Given the description of an element on the screen output the (x, y) to click on. 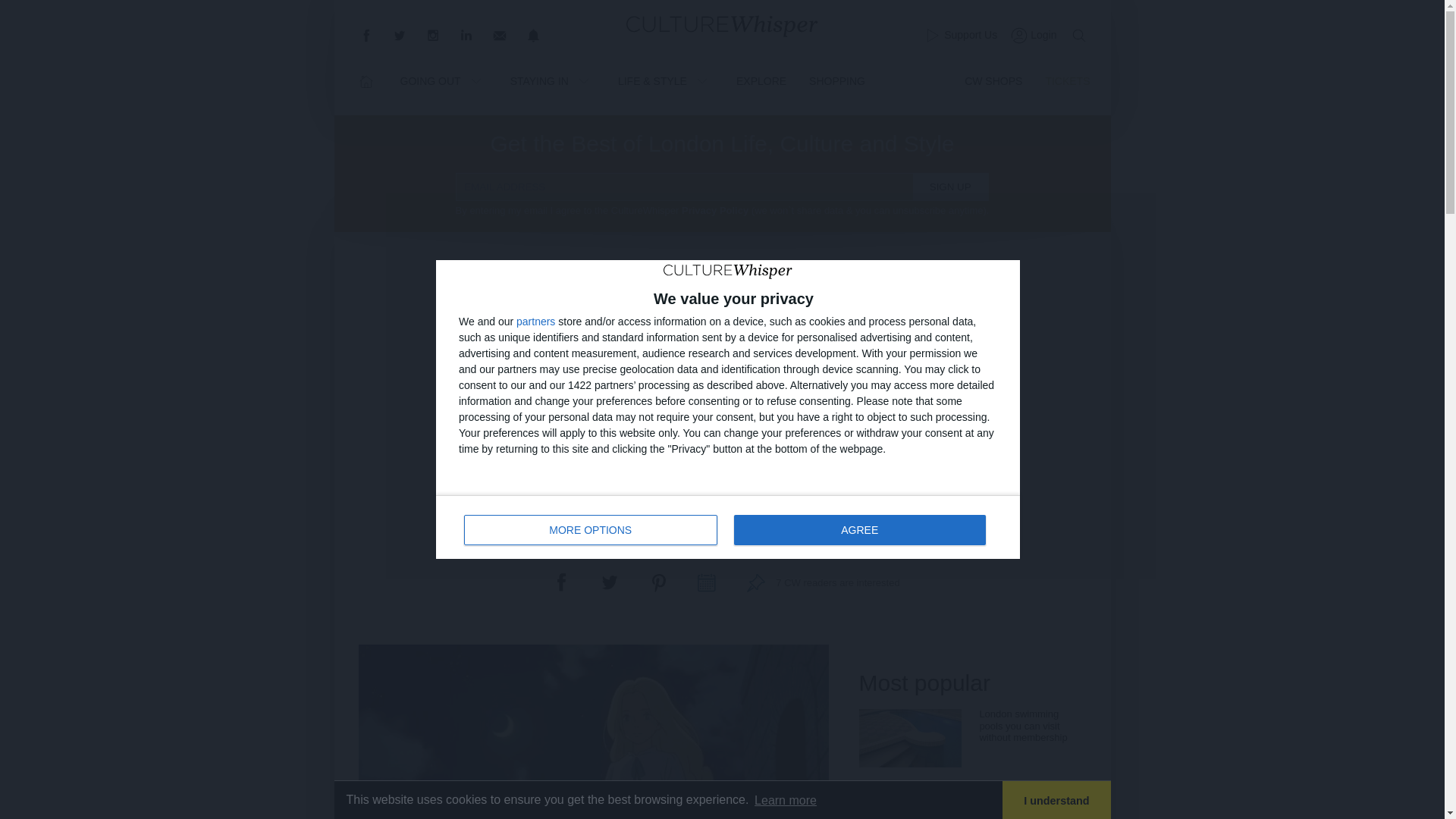
Login (1032, 34)
Learn more (785, 799)
GOING OUT (443, 80)
I understand (727, 526)
Search (1056, 800)
Pin this event to your planner (1078, 35)
partners (754, 581)
MORE OPTIONS (535, 321)
sign up (590, 530)
AGREE (853, 412)
sign up (859, 530)
Support Us (950, 186)
Get a reminder in your personal calendar (959, 34)
Support Us (706, 581)
